Given the description of an element on the screen output the (x, y) to click on. 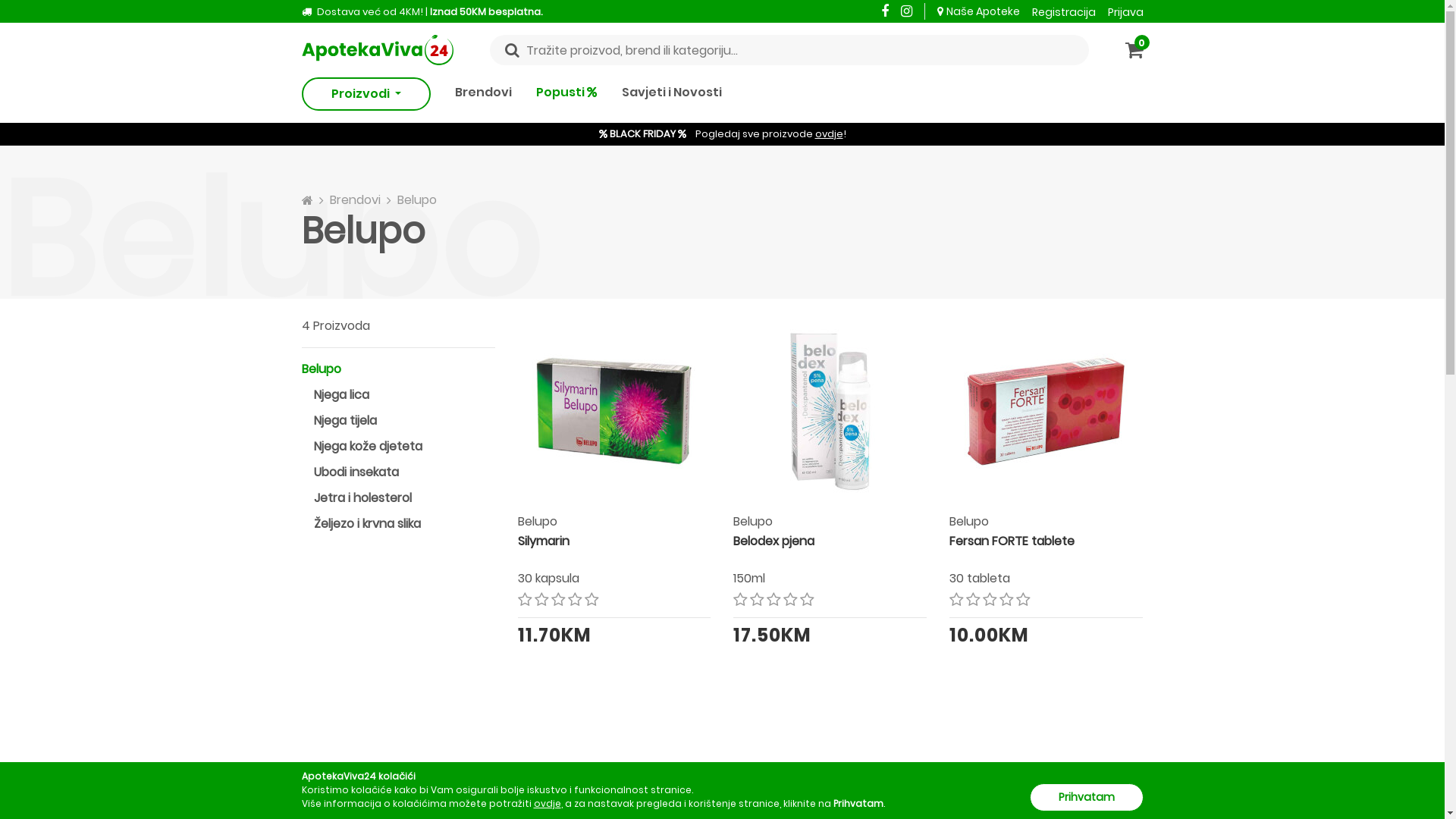
Njega tijela Element type: text (344, 420)
ovdje Element type: text (547, 803)
Belupo
Belodex pjena
150ml
17.50KM Element type: text (829, 580)
Brendovi Element type: text (483, 93)
Prihvatam Element type: text (1086, 797)
Proizvodi Element type: text (365, 93)
Savjeti i Novosti Element type: text (671, 93)
Popusti Element type: text (566, 93)
Njega lica Element type: text (341, 394)
BLACK FRIDAY
   Pogledaj sve proizvode ovdje! Element type: text (722, 133)
Belupo
Silymarin
30 kapsula
11.70KM Element type: text (613, 580)
Jetra i holesterol Element type: text (362, 497)
Ubodi insekata Element type: text (355, 471)
Belupo Element type: text (416, 199)
Registracija Element type: text (1069, 11)
Prijava Element type: text (1124, 11)
Belupo
Fersan FORTE tablete
30 tableta
10.00KM Element type: text (1045, 580)
Brendovi Element type: text (354, 199)
